Given the description of an element on the screen output the (x, y) to click on. 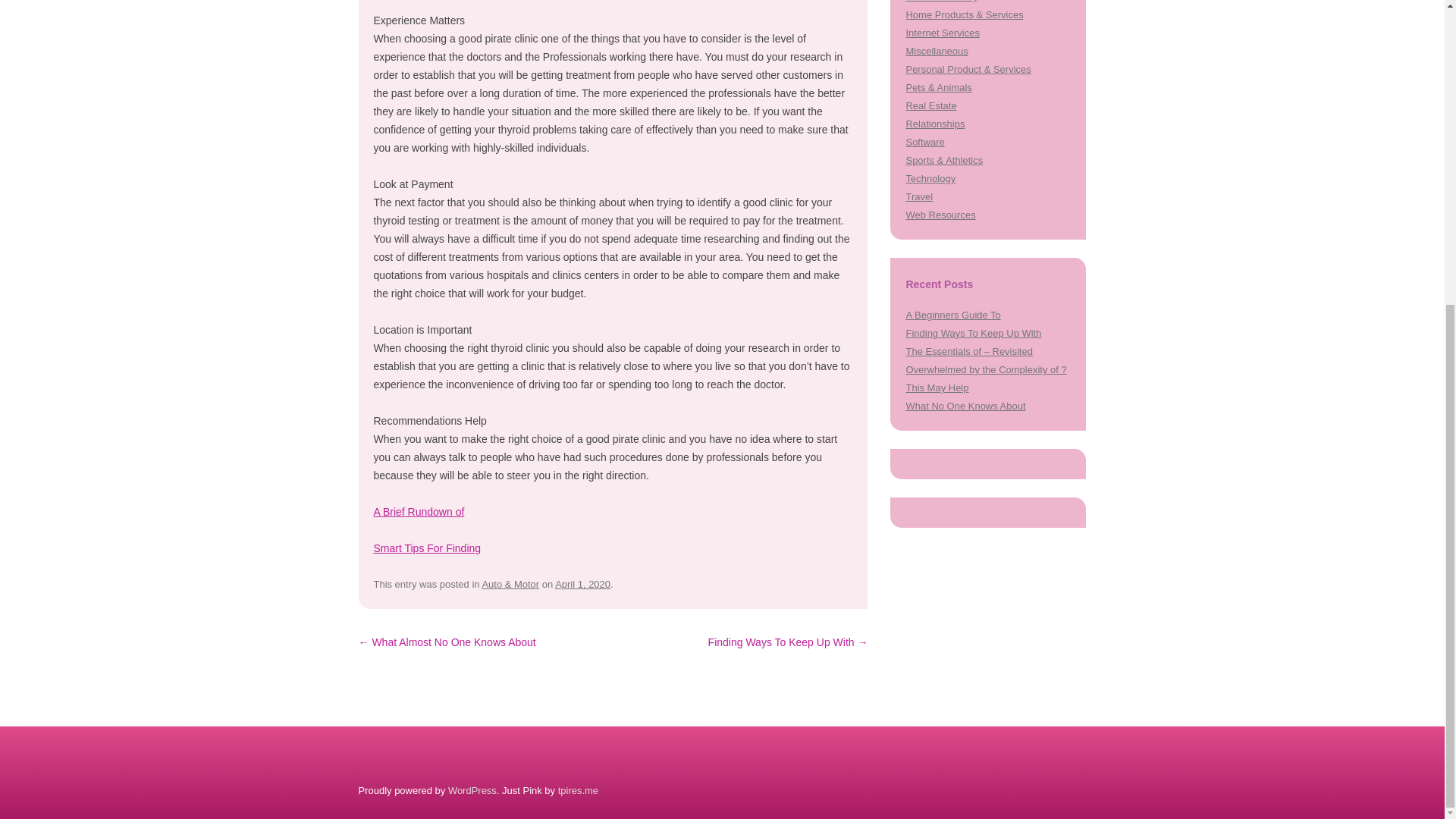
Finding Ways To Keep Up With (973, 333)
home and family (940, 1)
What No One Knows About (965, 405)
Real Estate (930, 105)
A Brief Rundown of (418, 511)
Software (924, 142)
Internet Services (941, 32)
Overwhelmed by the Complexity of ? This May Help (985, 378)
Smart Tips For Finding (426, 548)
Travel (919, 196)
